Given the description of an element on the screen output the (x, y) to click on. 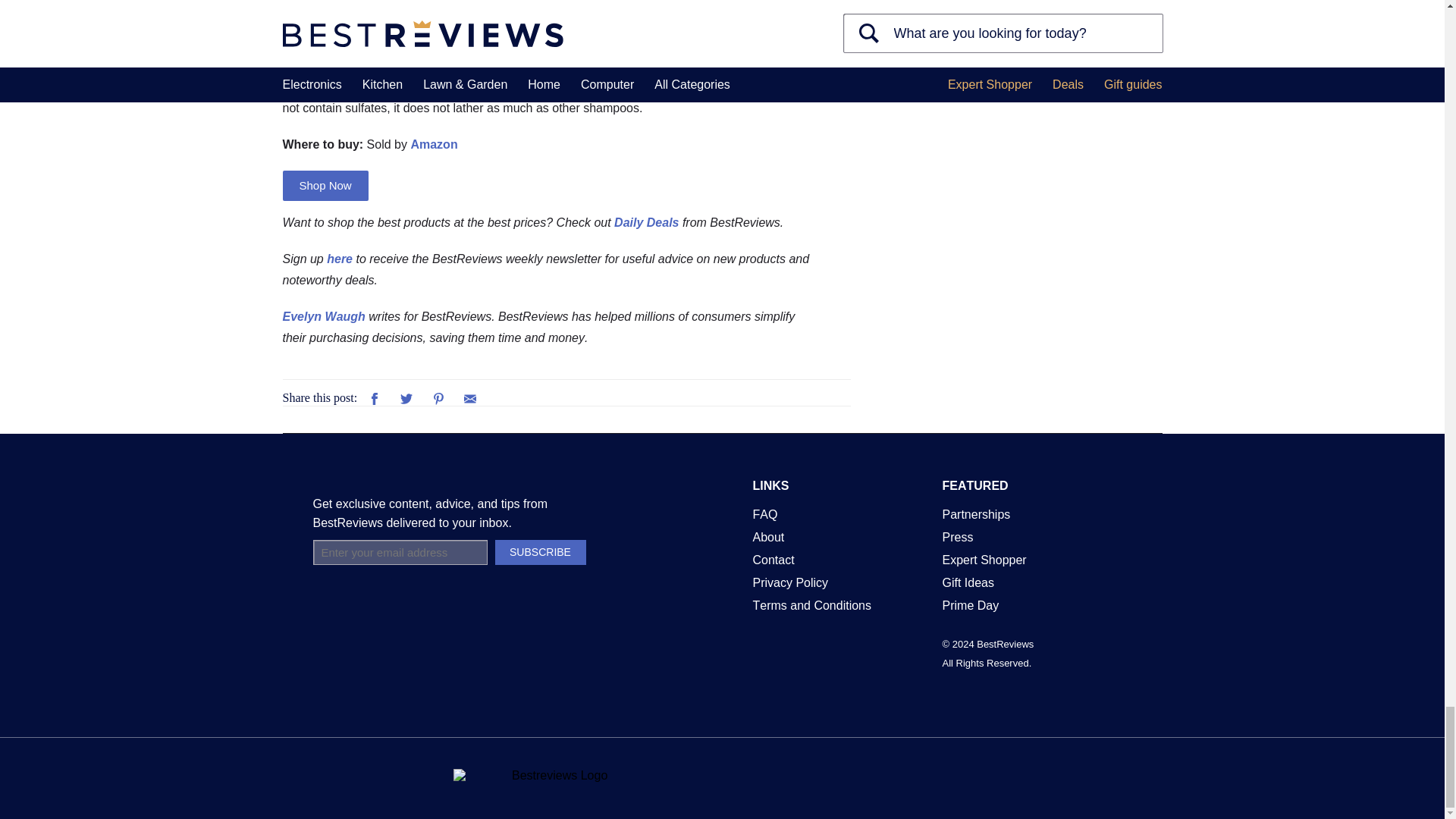
Contact Us (772, 559)
Frequently asked questions (764, 513)
Subscribe email (399, 552)
